Given the description of an element on the screen output the (x, y) to click on. 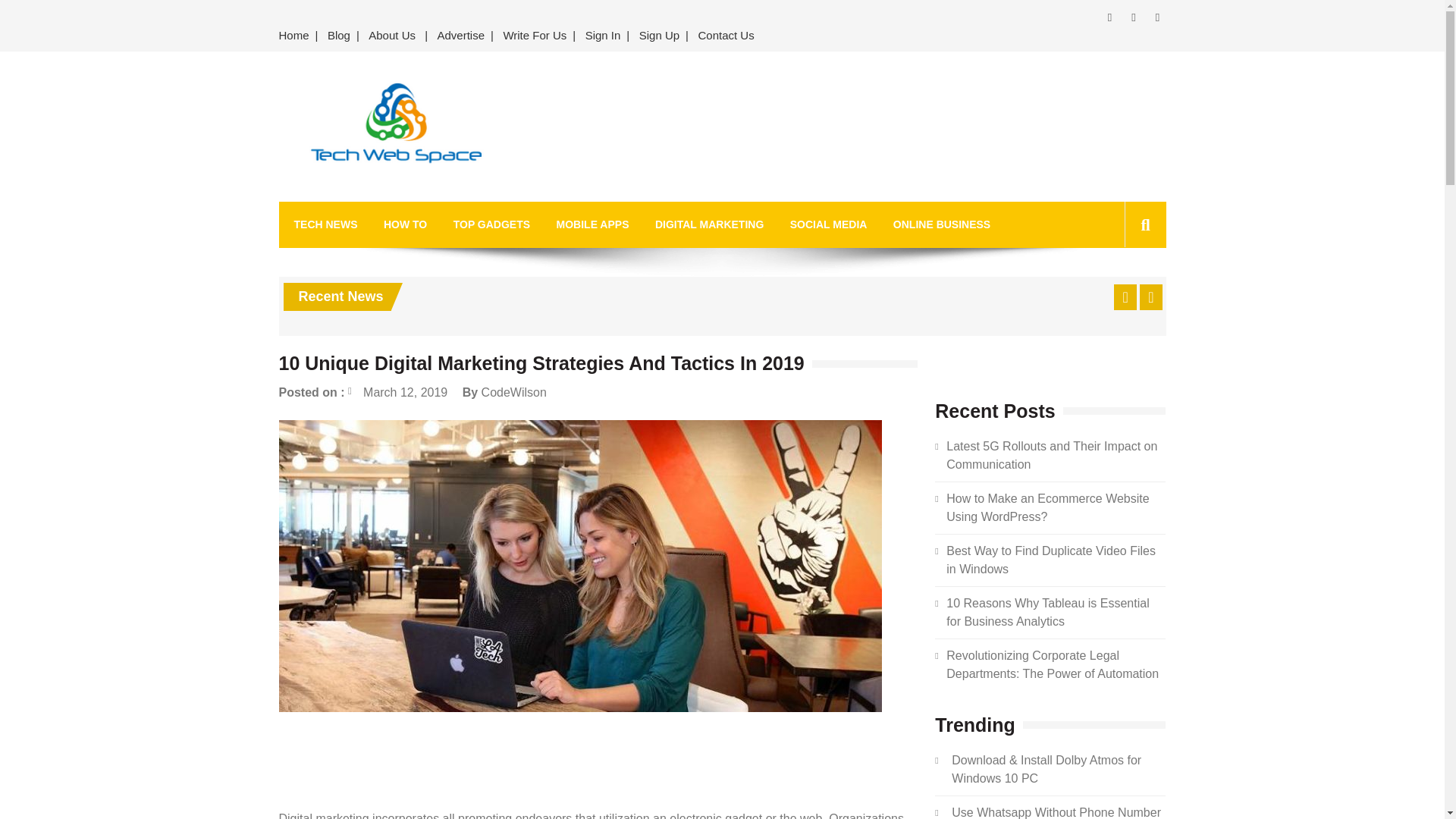
About Us (392, 36)
Advertise (460, 36)
Sign Up (659, 36)
Posts by CodeWilson (514, 391)
Contact Us (725, 36)
Sign In (603, 36)
Write For Us (534, 36)
Blog (338, 36)
Home (297, 36)
